Given the description of an element on the screen output the (x, y) to click on. 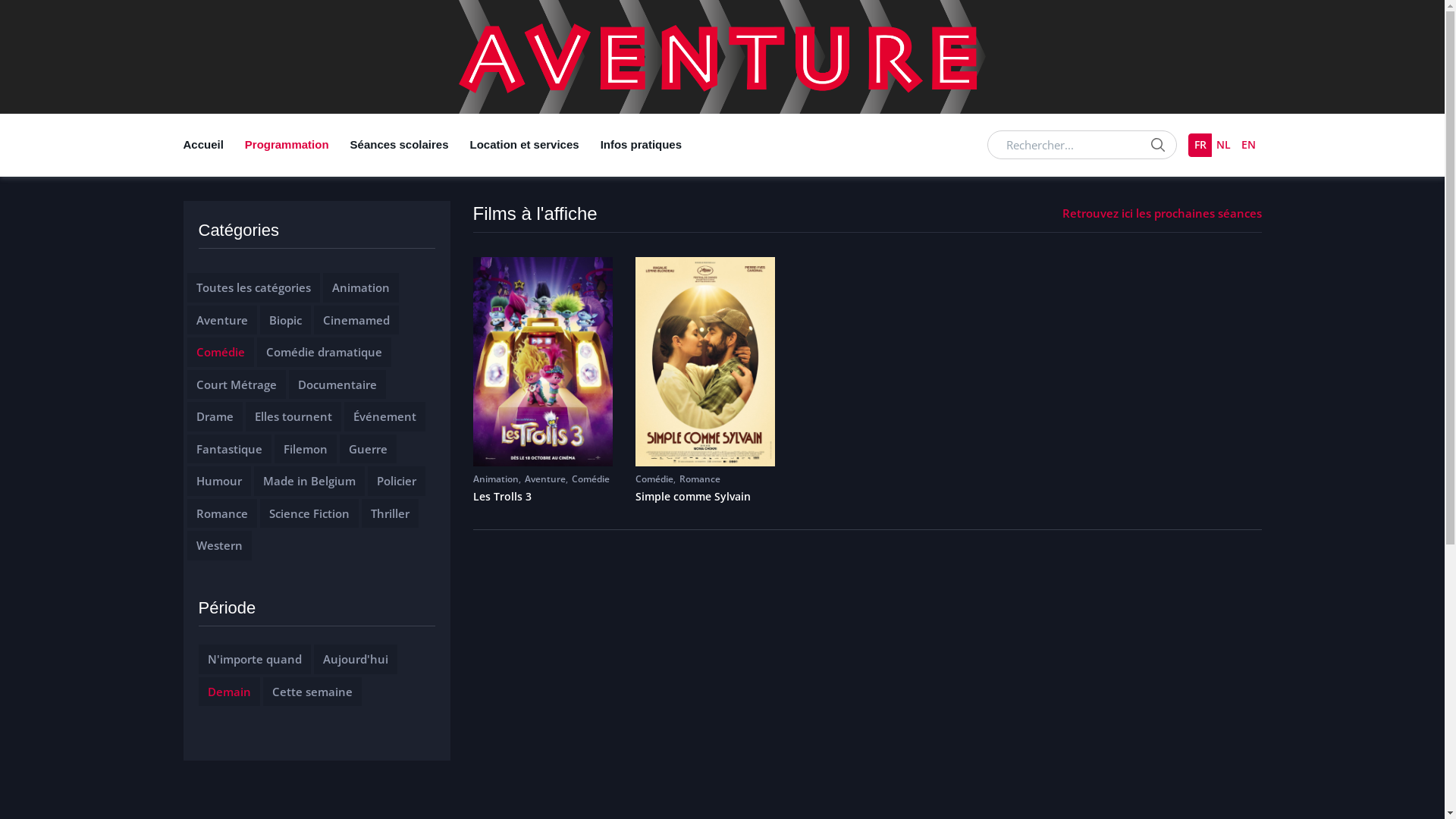
Aventure Element type: text (221, 319)
Animation Element type: text (360, 286)
Animation Element type: text (495, 478)
Location et services Element type: text (524, 144)
EN Element type: text (1248, 144)
Science Fiction Element type: text (308, 512)
Accueil Element type: text (208, 144)
Drame Element type: text (213, 415)
Filemon Element type: text (305, 448)
Cette semaine Element type: text (311, 691)
Policier Element type: text (395, 480)
Elles tournent Element type: text (293, 415)
Programmation Element type: text (286, 144)
Romance Element type: text (699, 478)
Biopic Element type: text (284, 319)
Made in Belgium Element type: text (308, 480)
Aventure Element type: text (544, 478)
N'importe quand Element type: text (254, 658)
FR Element type: text (1199, 144)
Fantastique Element type: text (228, 448)
Thriller Element type: text (389, 512)
Infos pratiques Element type: text (640, 144)
Demain Element type: text (229, 691)
Les Trolls 3 Element type: text (542, 497)
Guerre Element type: text (367, 448)
Simple comme Sylvain Element type: text (705, 497)
Cinemamed Element type: text (356, 319)
Western Element type: text (218, 544)
Romance Element type: text (221, 512)
Documentaire Element type: text (336, 384)
NL Element type: text (1223, 144)
Aujourd'hui Element type: text (355, 658)
Humour Element type: text (218, 480)
